Given the description of an element on the screen output the (x, y) to click on. 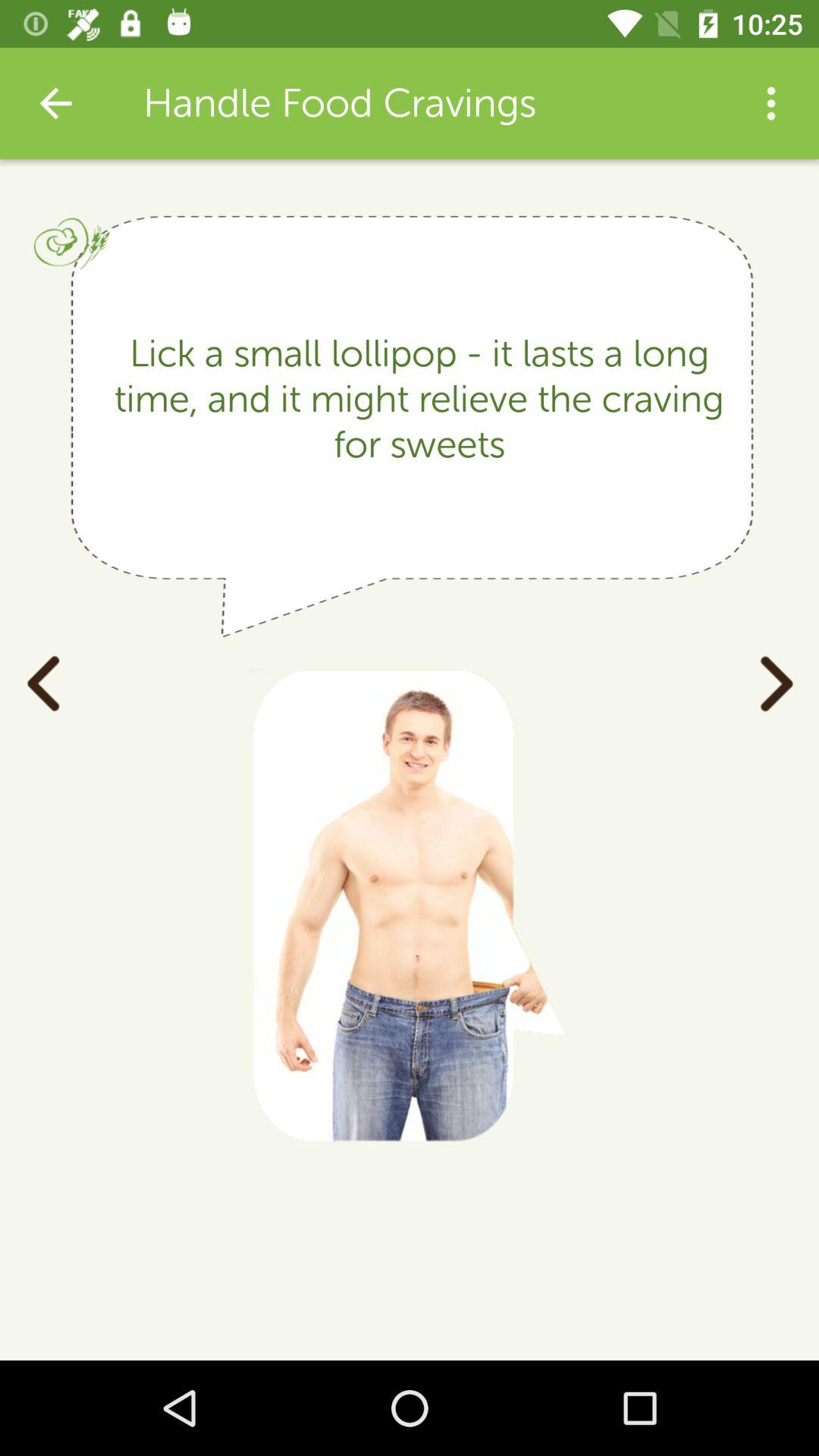
choose the icon on the right (776, 682)
